Given the description of an element on the screen output the (x, y) to click on. 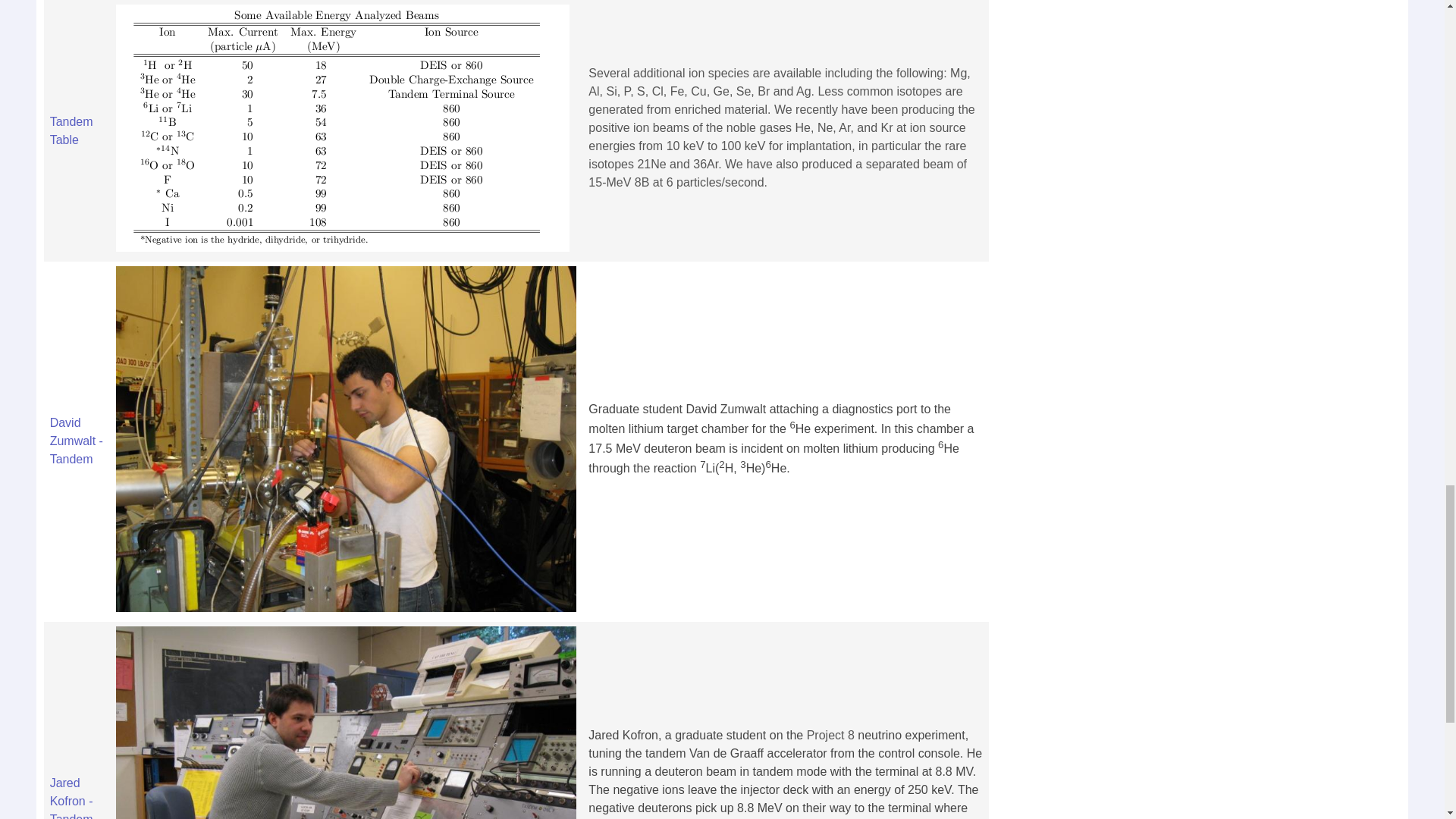
David Zumwalt - Tandem (76, 441)
Tandem Table (71, 130)
